Given the description of an element on the screen output the (x, y) to click on. 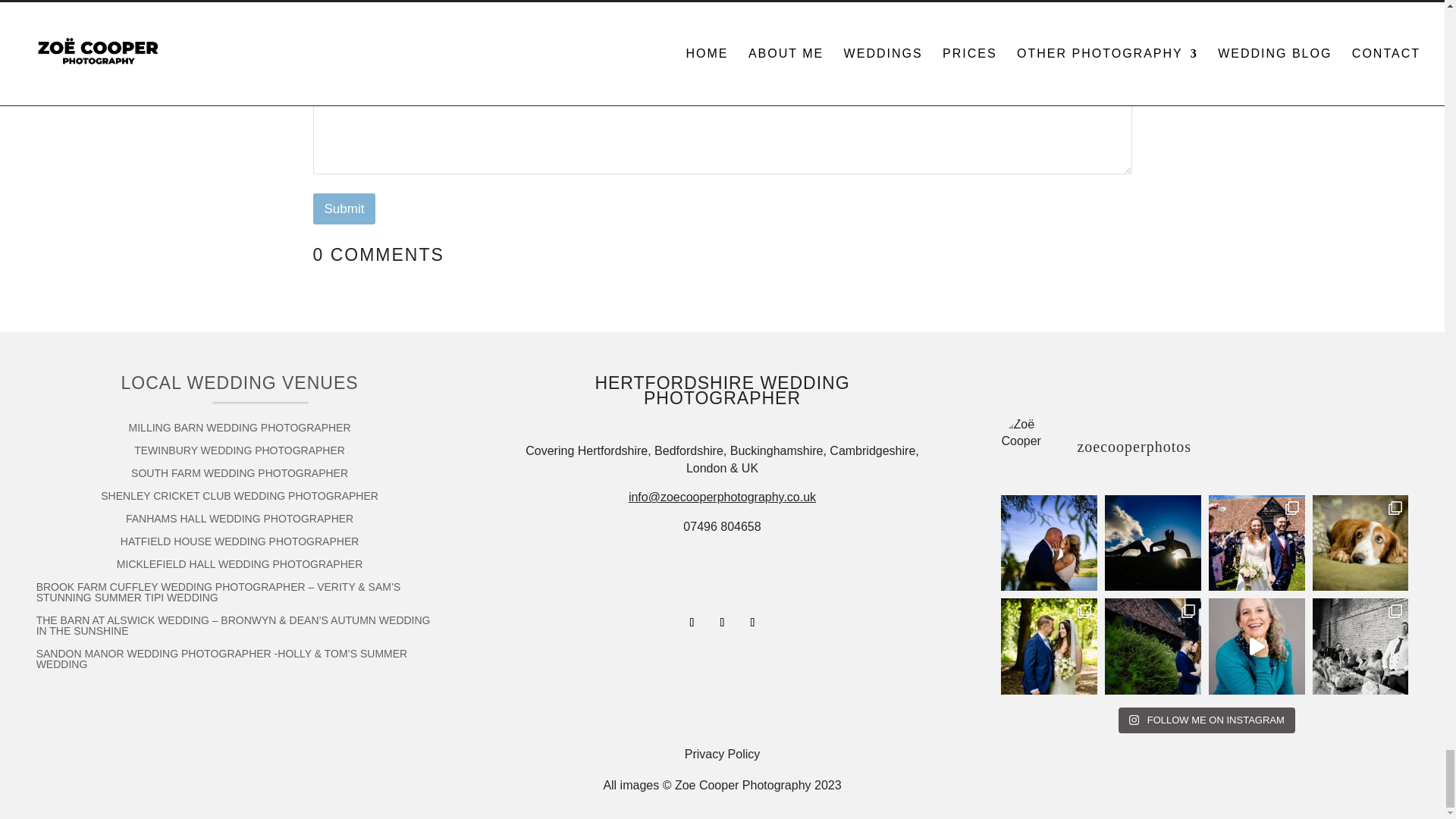
SOUTH FARM WEDDING PHOTOGRAPHER (239, 475)
TEWINBURY WEDDING PHOTOGRAPHER (239, 453)
Follow on Google (751, 622)
Follow on Instagram (721, 622)
MILLING BARN WEDDING PHOTOGRAPHER (239, 430)
Submit (344, 208)
SHENLEY CRICKET CLUB WEDDING PHOTOGRAPHER (239, 498)
Follow on Facebook (691, 622)
